Given the description of an element on the screen output the (x, y) to click on. 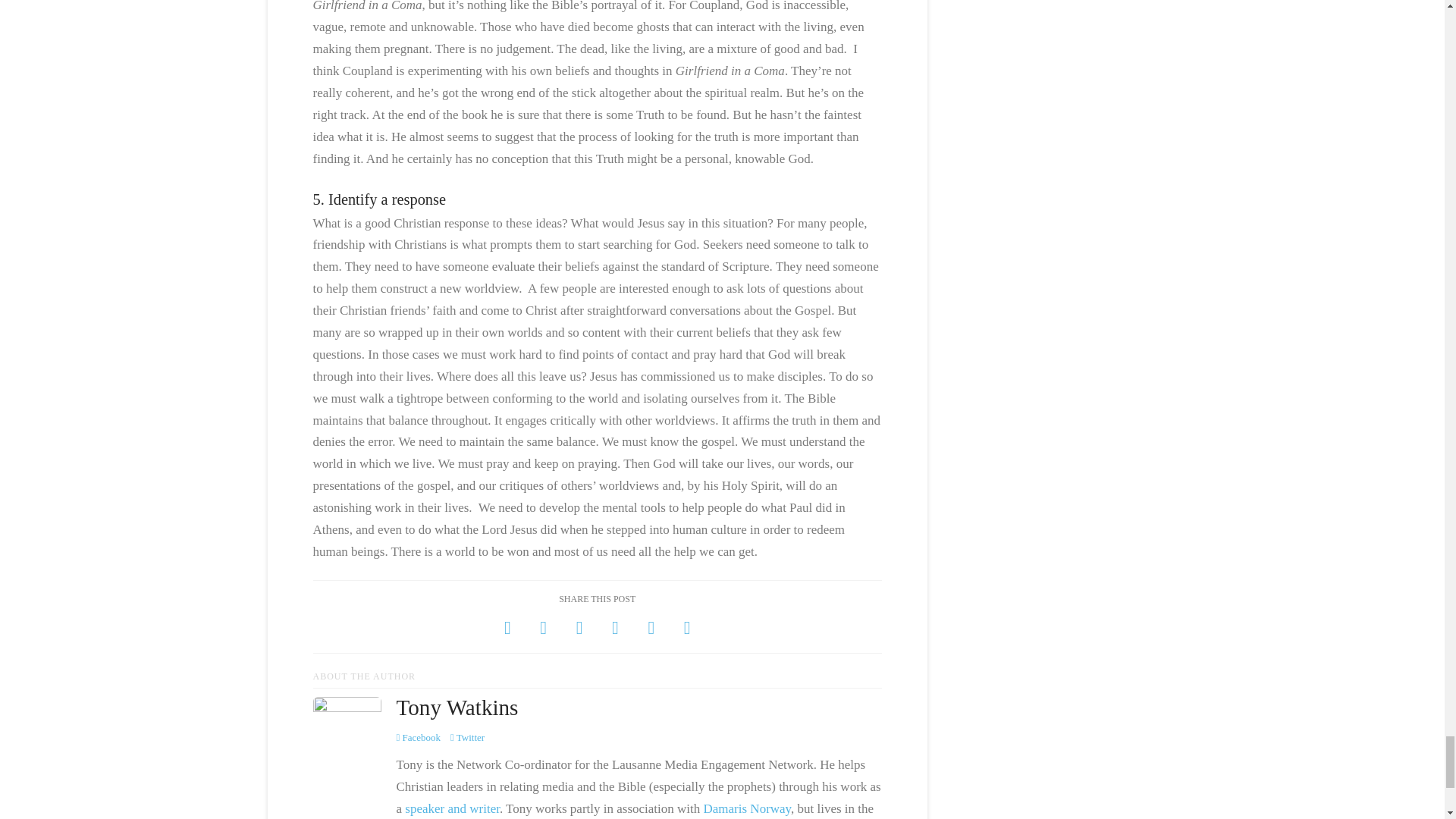
Visit the Twitter Profile for Tony Watkins (466, 737)
Visit the Facebook Profile for Tony Watkins (418, 737)
